Given the description of an element on the screen output the (x, y) to click on. 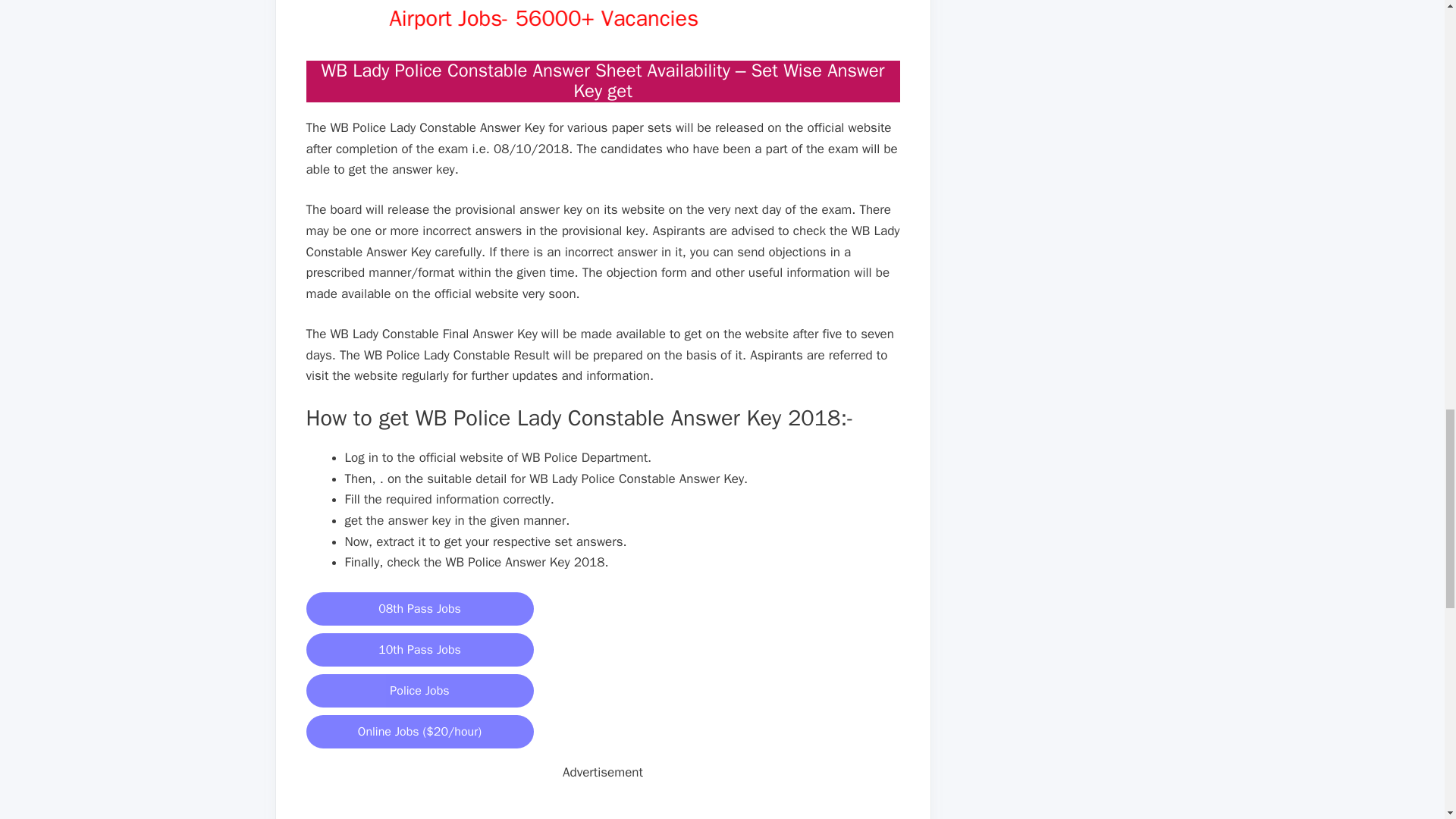
08th Pass Jobs (419, 608)
08th Pass Jobs (419, 608)
10th Pass Jobs (419, 649)
Police Jobs (419, 690)
10th Pass Jobs (419, 649)
Police Jobs (419, 690)
